Given the description of an element on the screen output the (x, y) to click on. 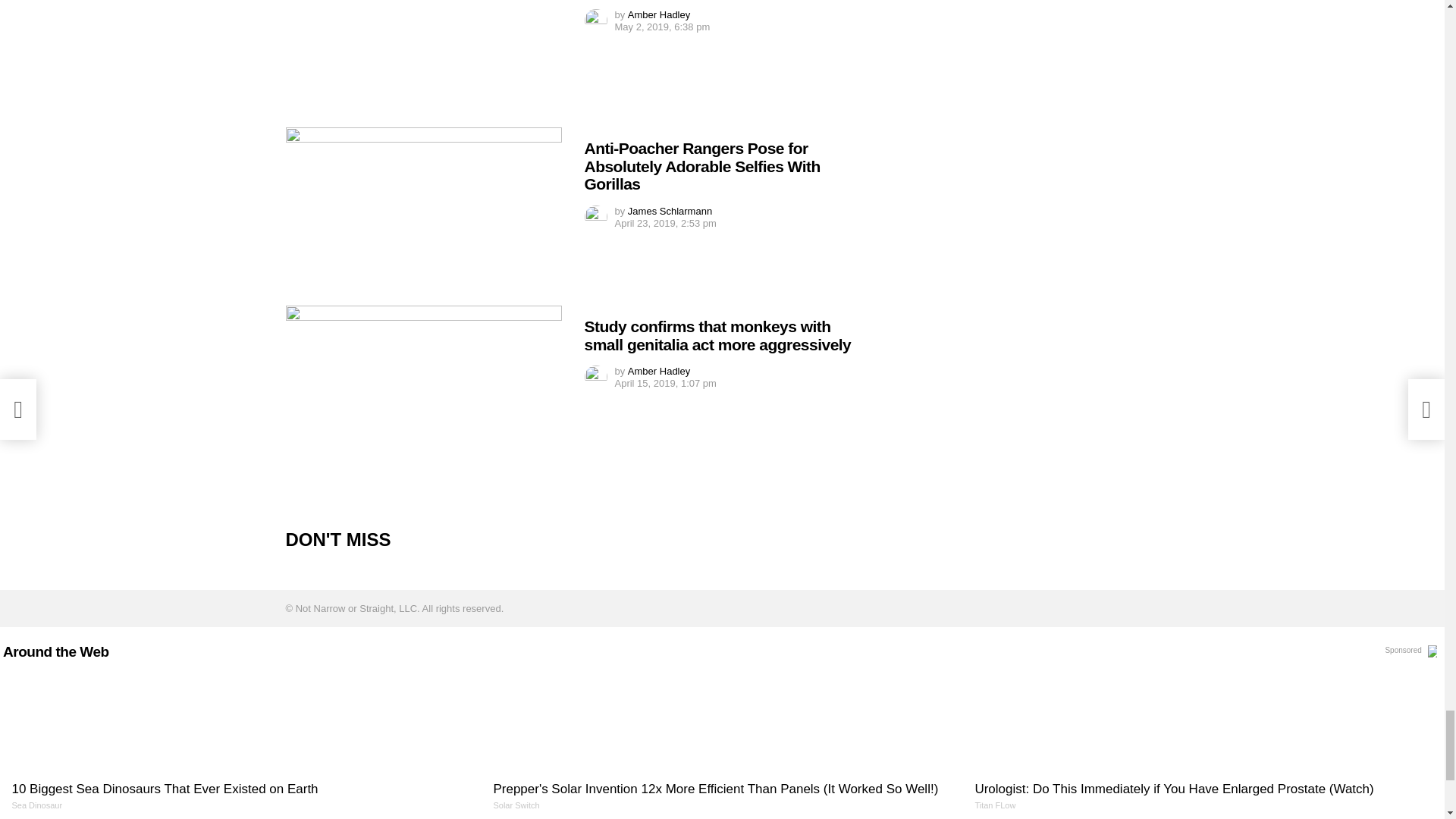
Posts by Amber Hadley (658, 370)
Posts by Amber Hadley (658, 14)
Posts by James Schlarmann (669, 211)
